Given the description of an element on the screen output the (x, y) to click on. 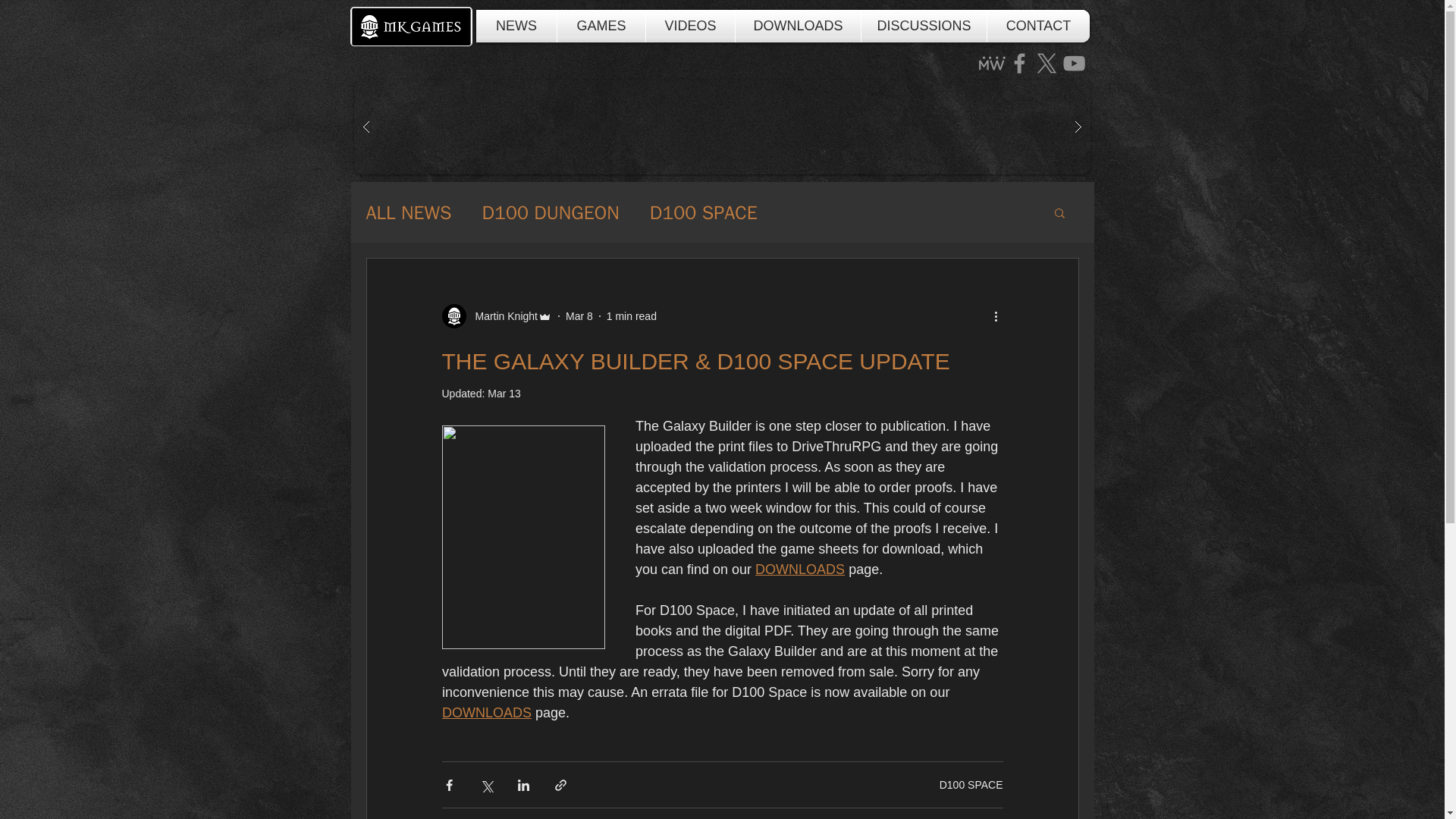
CONTACT (1038, 25)
DOWNLOADS (797, 25)
Mar 8 (579, 315)
DOWNLOADS (486, 712)
D100 SPACE (971, 784)
1 min read (631, 315)
Martin Knight (496, 315)
NEWS (516, 25)
HOME PAGE (410, 25)
DISCUSSIONS (924, 25)
